Given the description of an element on the screen output the (x, y) to click on. 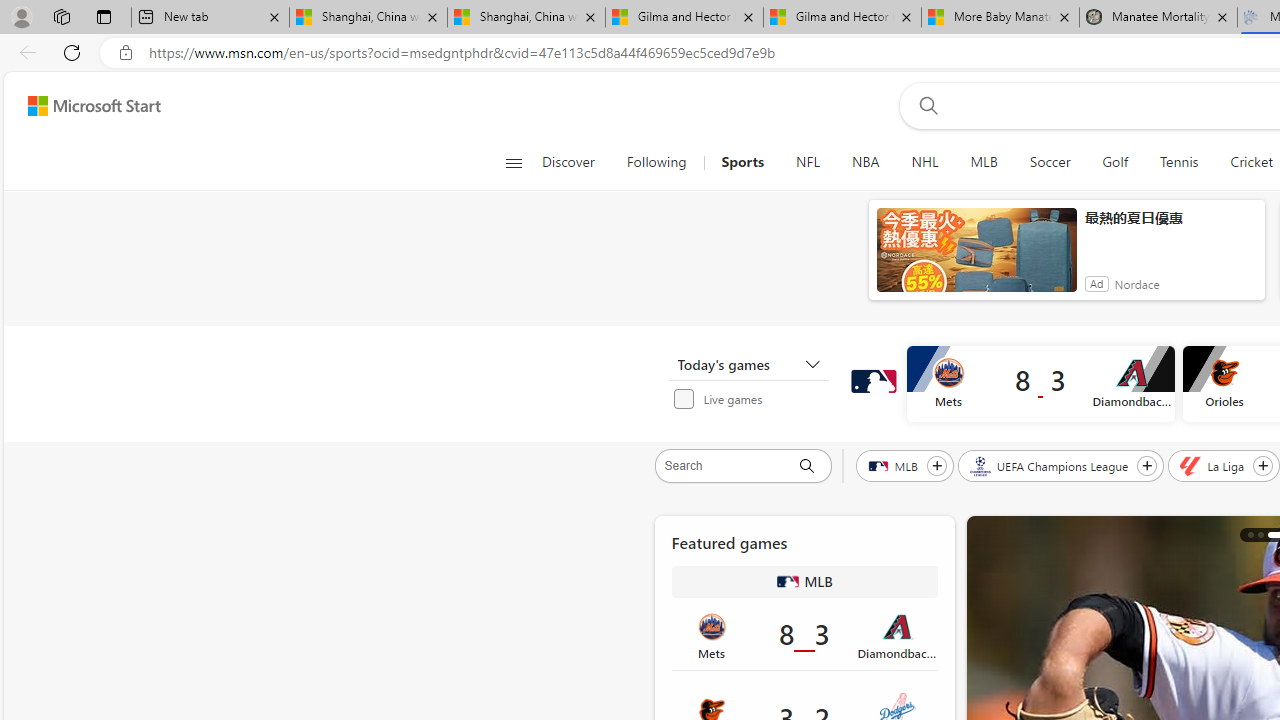
Ad (1096, 283)
Cricket (1251, 162)
Following (656, 162)
Following (658, 162)
Tennis (1179, 162)
Class: button-glyph (513, 162)
NHL (924, 162)
Skip to content (86, 105)
Follow MLB (936, 465)
Nordace (1136, 283)
Soccer (1049, 162)
anim-content (975, 258)
